Given the description of an element on the screen output the (x, y) to click on. 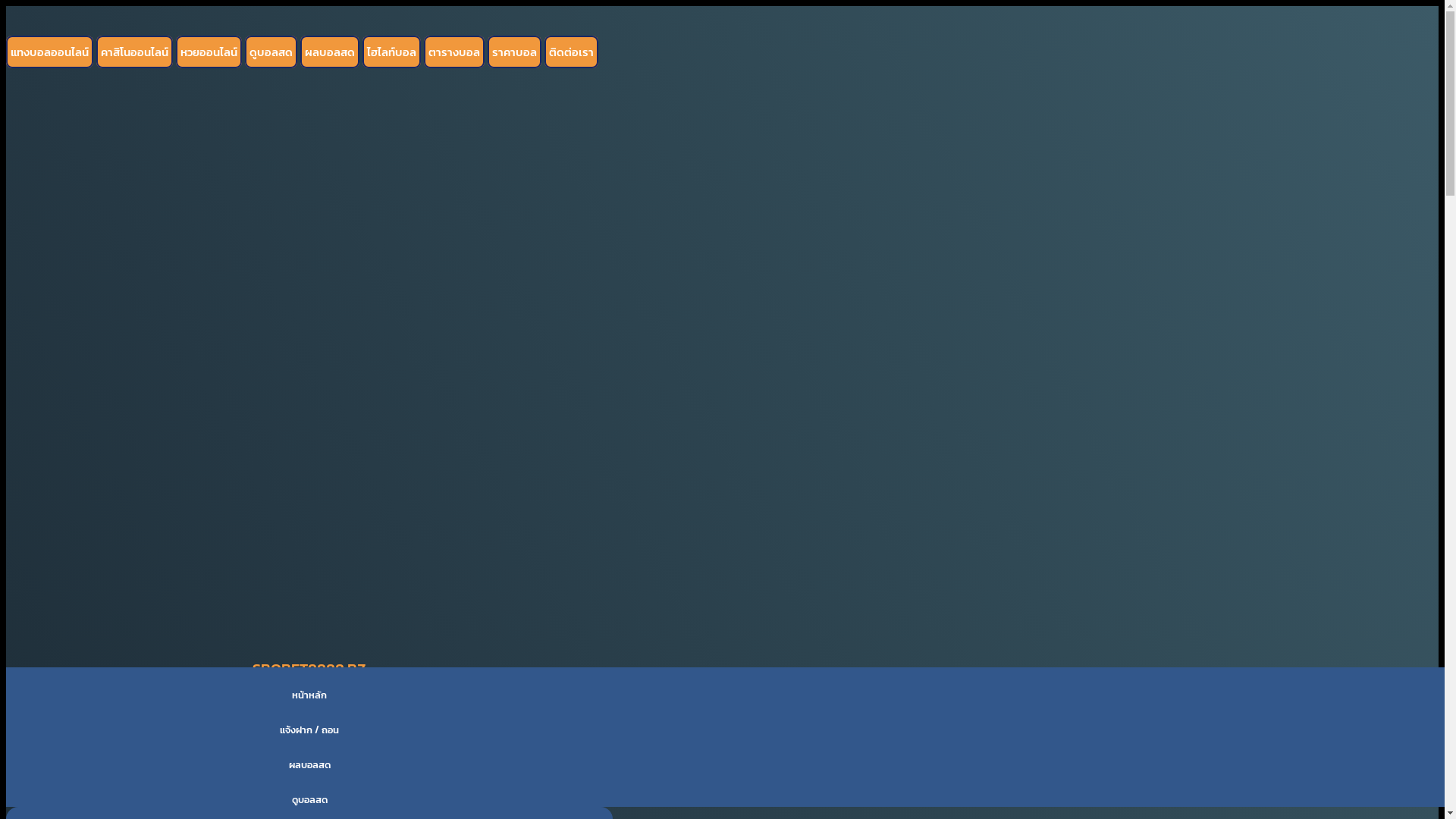
LOG IN Element type: text (309, 755)
